Given the description of an element on the screen output the (x, y) to click on. 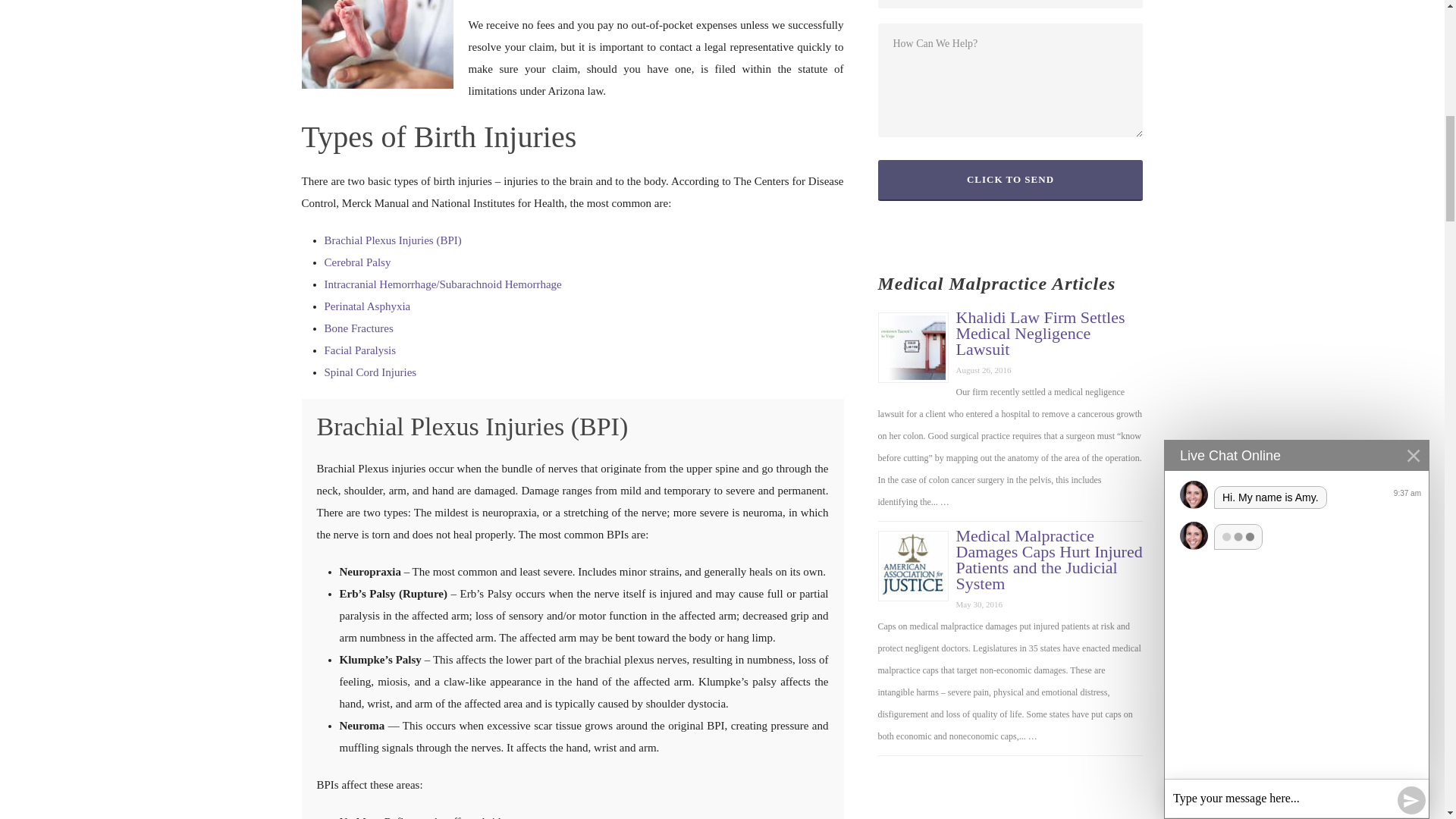
Click to Send (1009, 179)
